Given the description of an element on the screen output the (x, y) to click on. 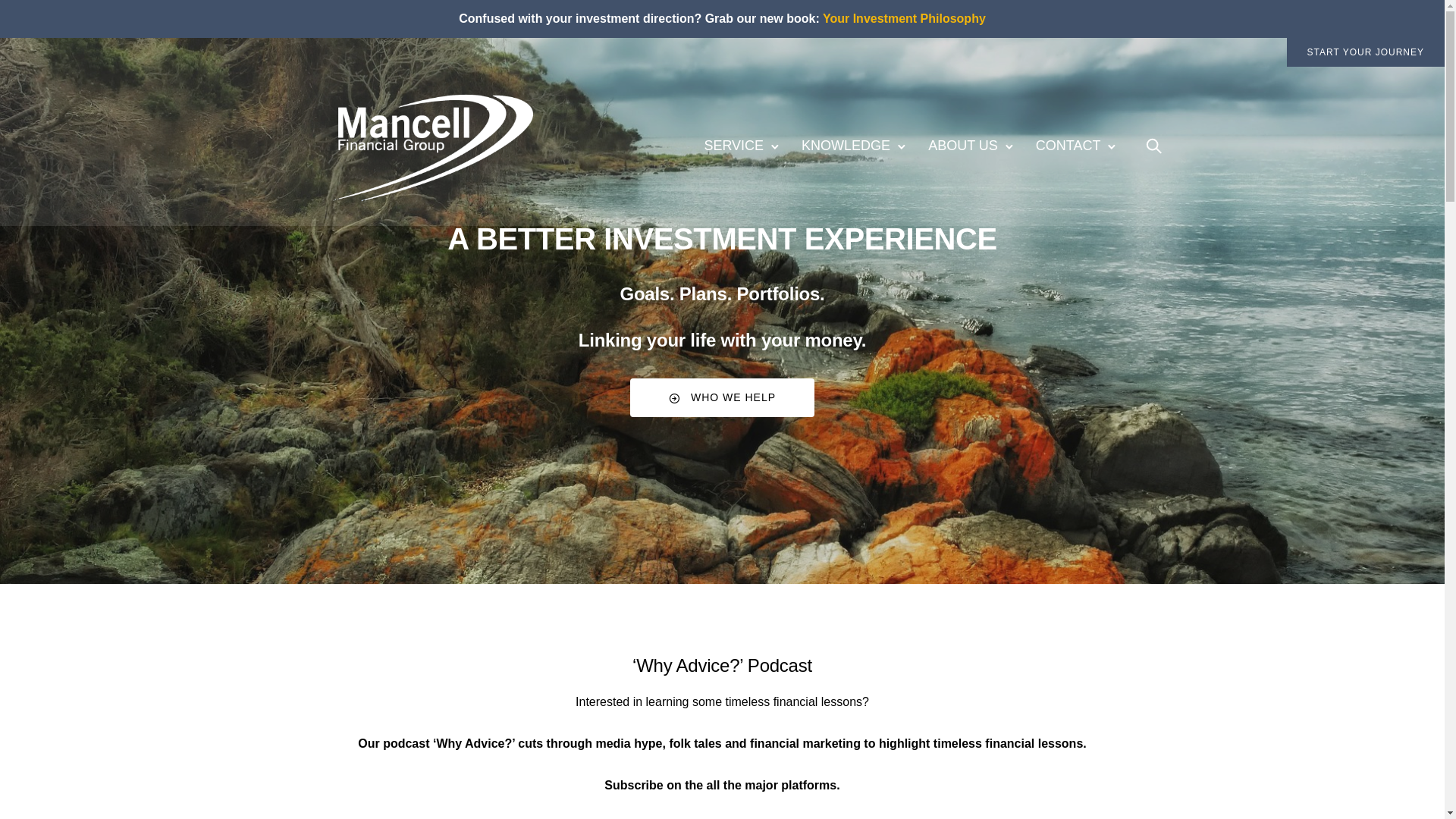
Your Investment Philosophy Element type: text (903, 18)
KNOWLEDGE Element type: text (845, 145)
WHO WE HELP Element type: text (722, 397)
CONTACT Element type: text (1068, 145)
START YOUR JOURNEY Element type: text (1365, 51)
SERVICE Element type: text (733, 145)
ABOUT US Element type: text (962, 145)
